Given the description of an element on the screen output the (x, y) to click on. 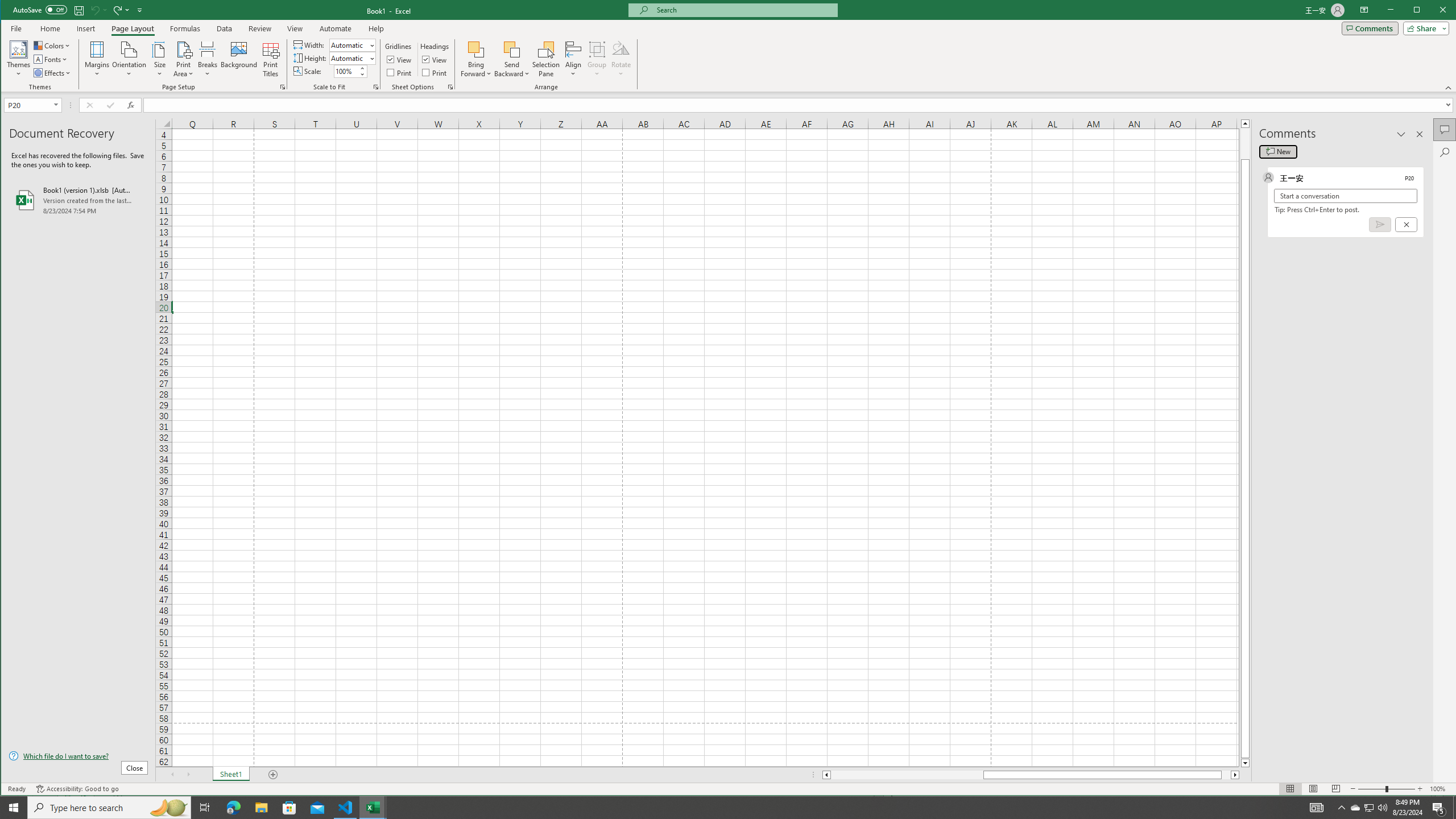
Page left (906, 774)
Running applications (717, 807)
AutomationID: 4105 (1316, 807)
Bring Forward (476, 48)
